Given the description of an element on the screen output the (x, y) to click on. 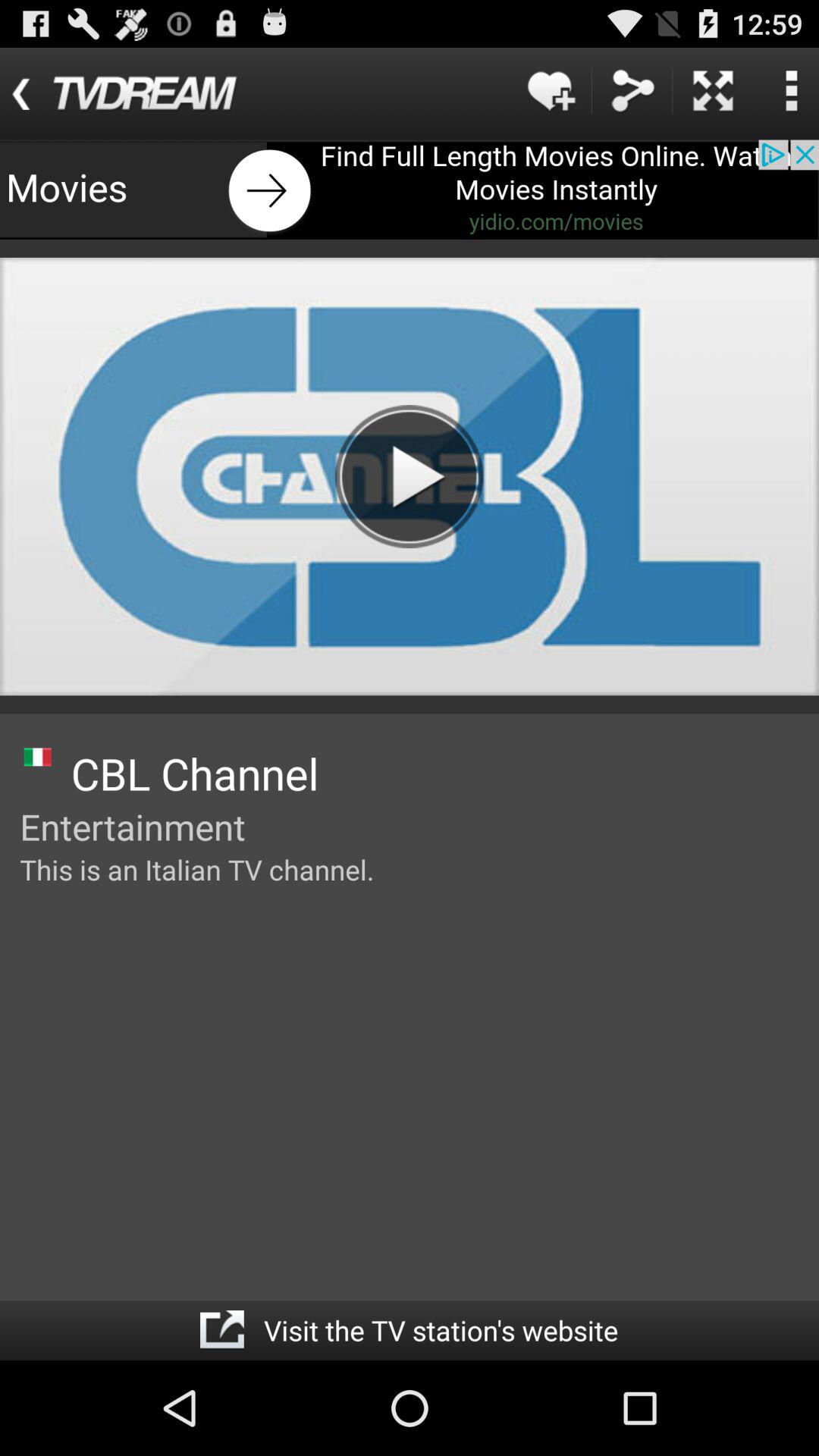
visit external website (221, 1330)
